Given the description of an element on the screen output the (x, y) to click on. 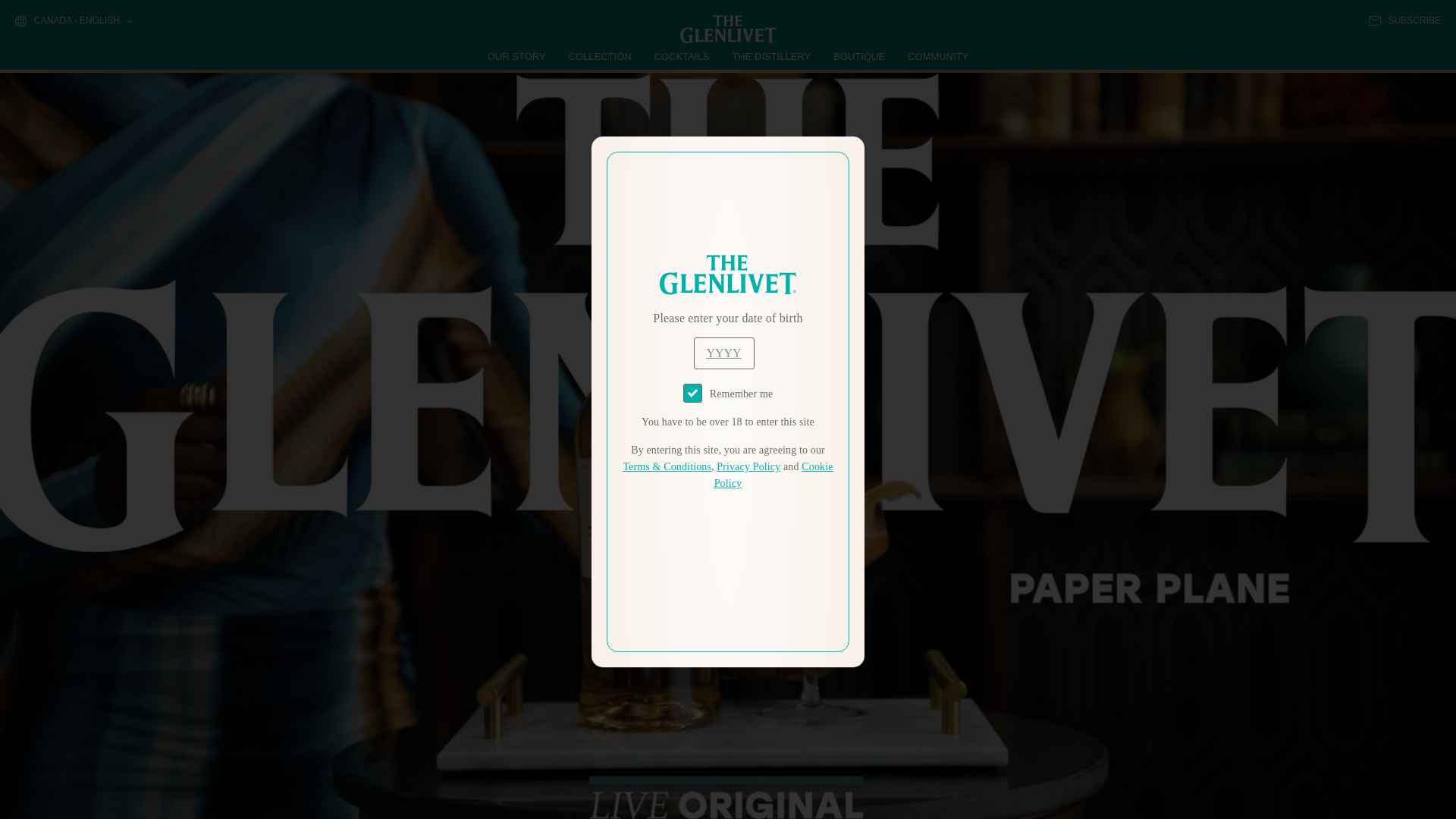
BOUTIQUE (858, 56)
CANADA - ENGLISH (73, 21)
year (723, 353)
COCKTAILS (681, 56)
COLLECTION (600, 56)
OUR STORY (516, 56)
Privacy Policy (748, 466)
SUBSCRIBE (1404, 20)
Cookie Policy (773, 474)
THE DISTILLERY (771, 56)
COMMUNITY (937, 56)
